Given the description of an element on the screen output the (x, y) to click on. 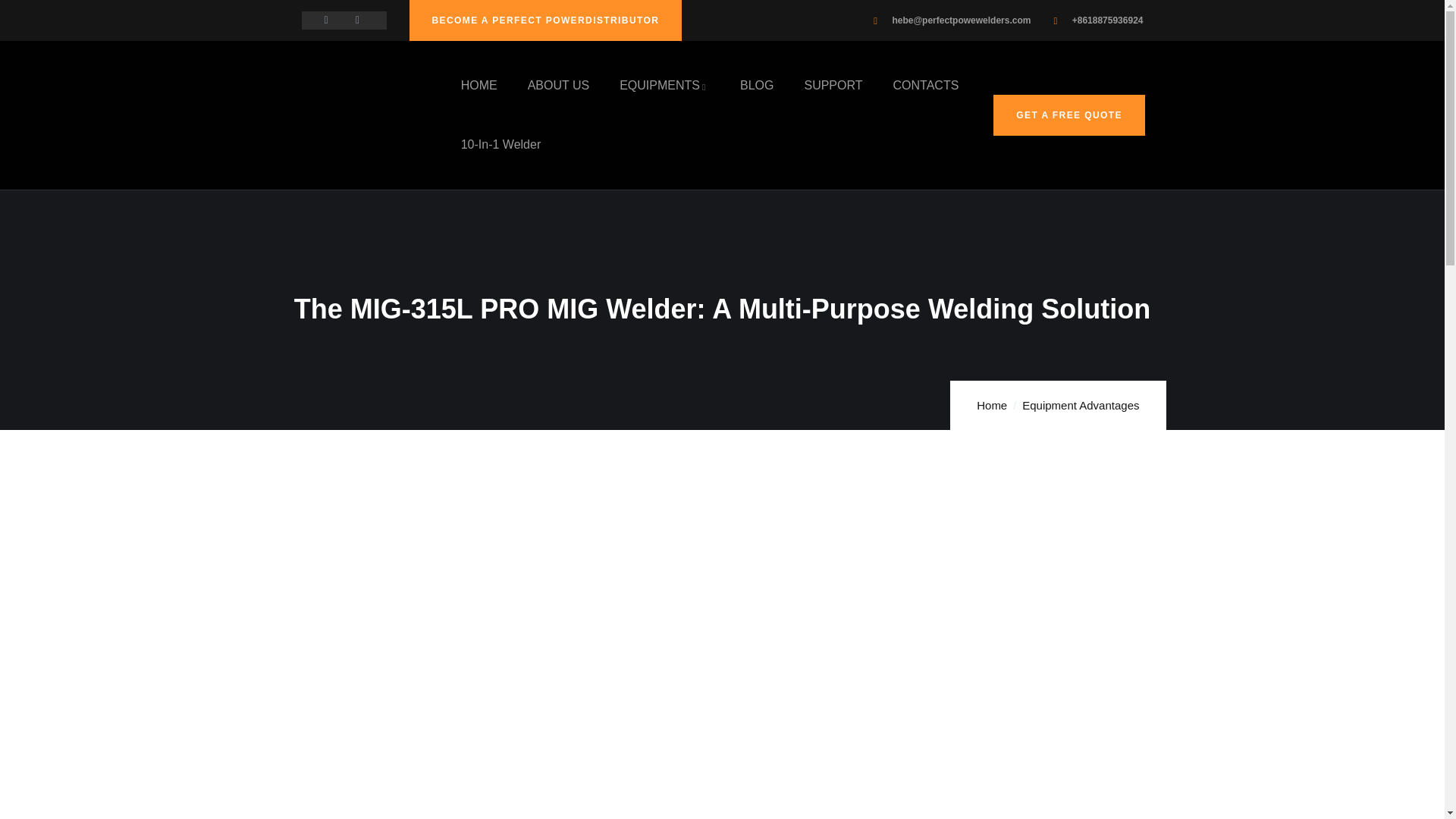
CONTACTS (926, 85)
GET A FREE QUOTE (1068, 115)
ABOUT US (558, 85)
Home (357, 86)
BECOME A PERFECT POWERDISTRIBUTOR (545, 20)
HOME (479, 85)
BLOG (756, 85)
EQUIPMENTS (665, 85)
10-In-1 Welder (501, 144)
SUPPORT (832, 85)
